Given the description of an element on the screen output the (x, y) to click on. 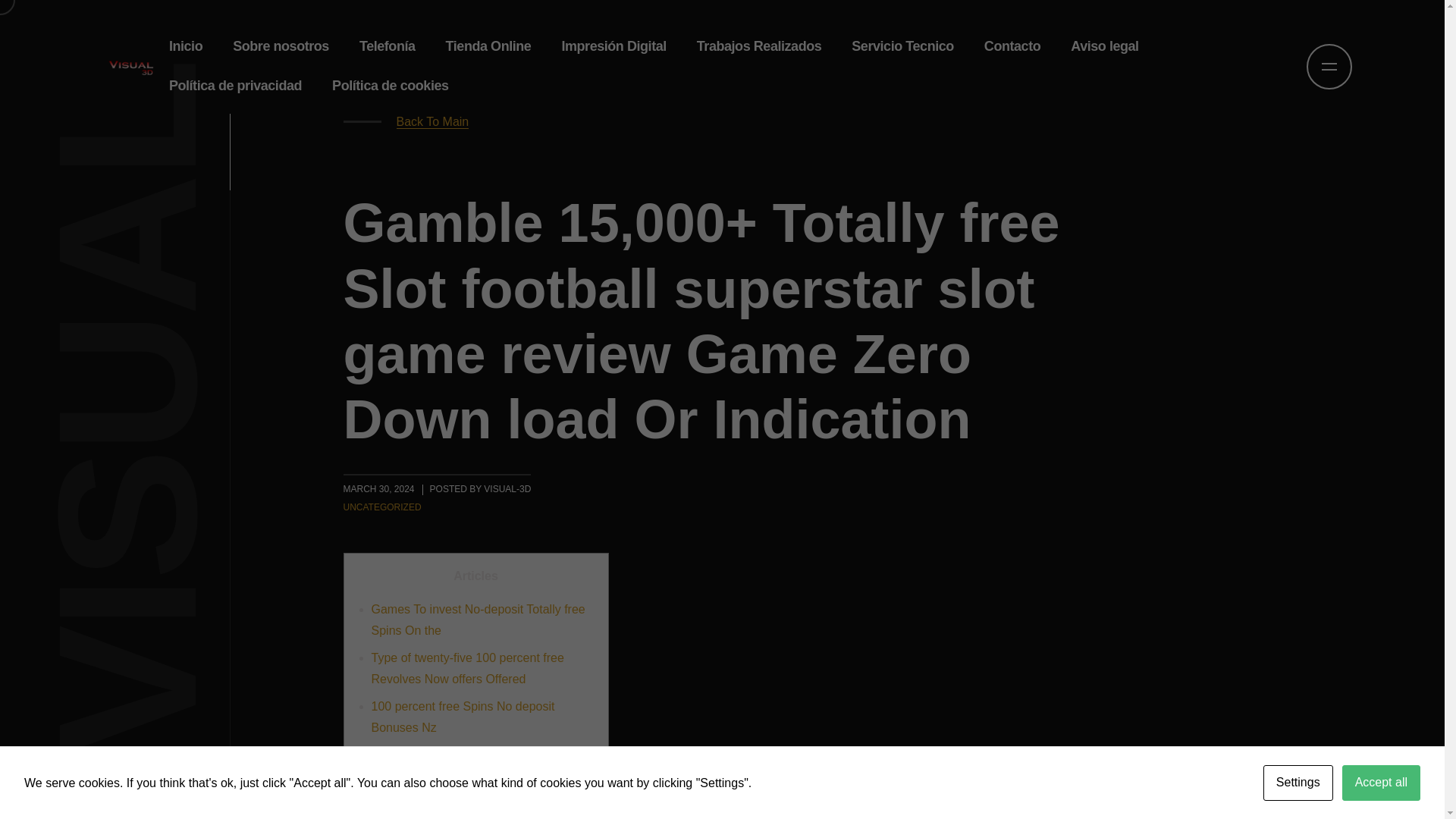
Aviso legal (1104, 46)
Contacto (1012, 46)
Trabajos Realizados (759, 46)
Sobre nosotros (279, 46)
Servicio Tecnico (902, 46)
Inicio (185, 46)
Tienda Online (488, 46)
